Given the description of an element on the screen output the (x, y) to click on. 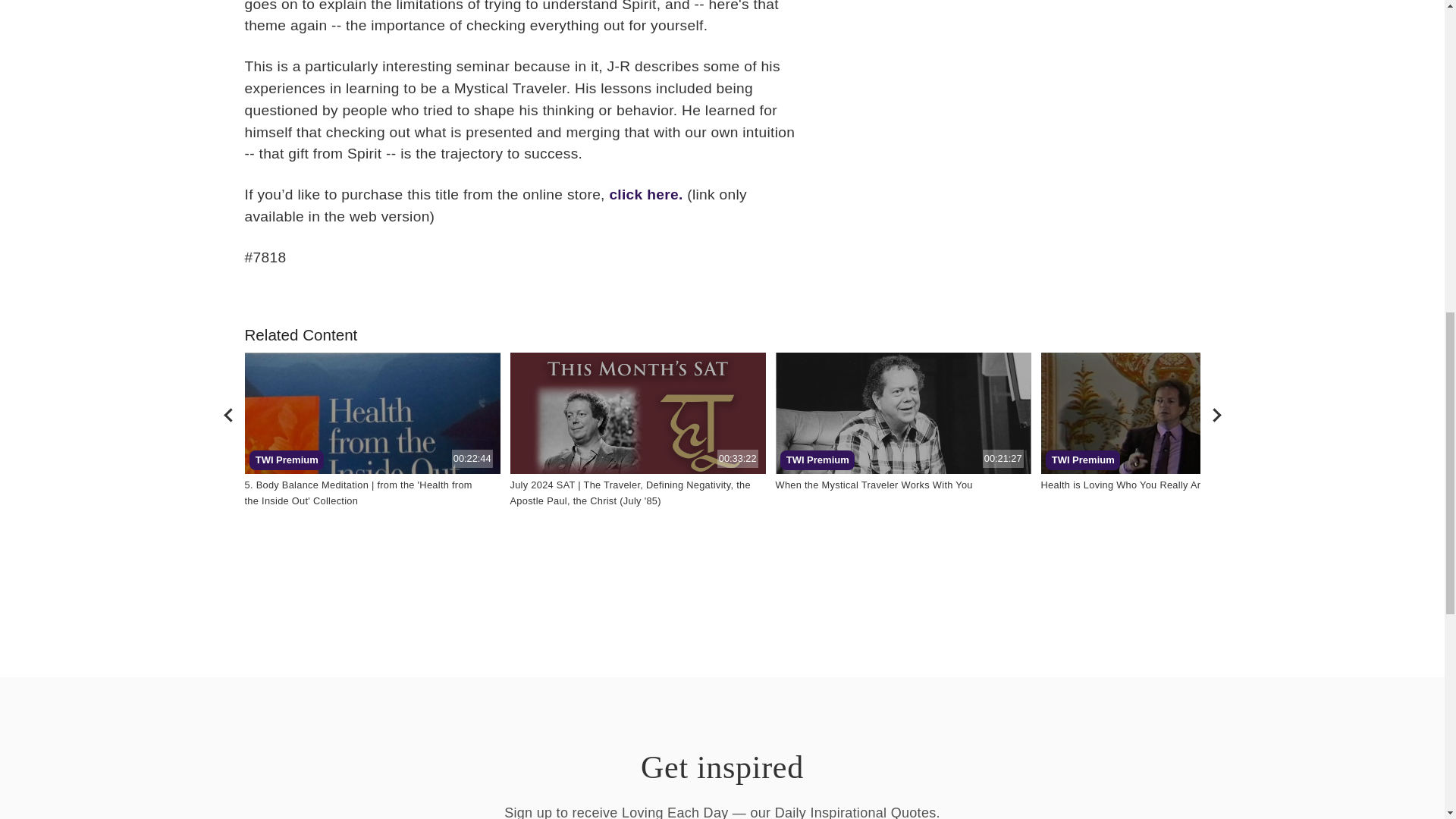
Previous (371, 413)
TWI Premium (228, 413)
click here. (902, 413)
Next (1168, 413)
00:33:22 (647, 194)
